Given the description of an element on the screen output the (x, y) to click on. 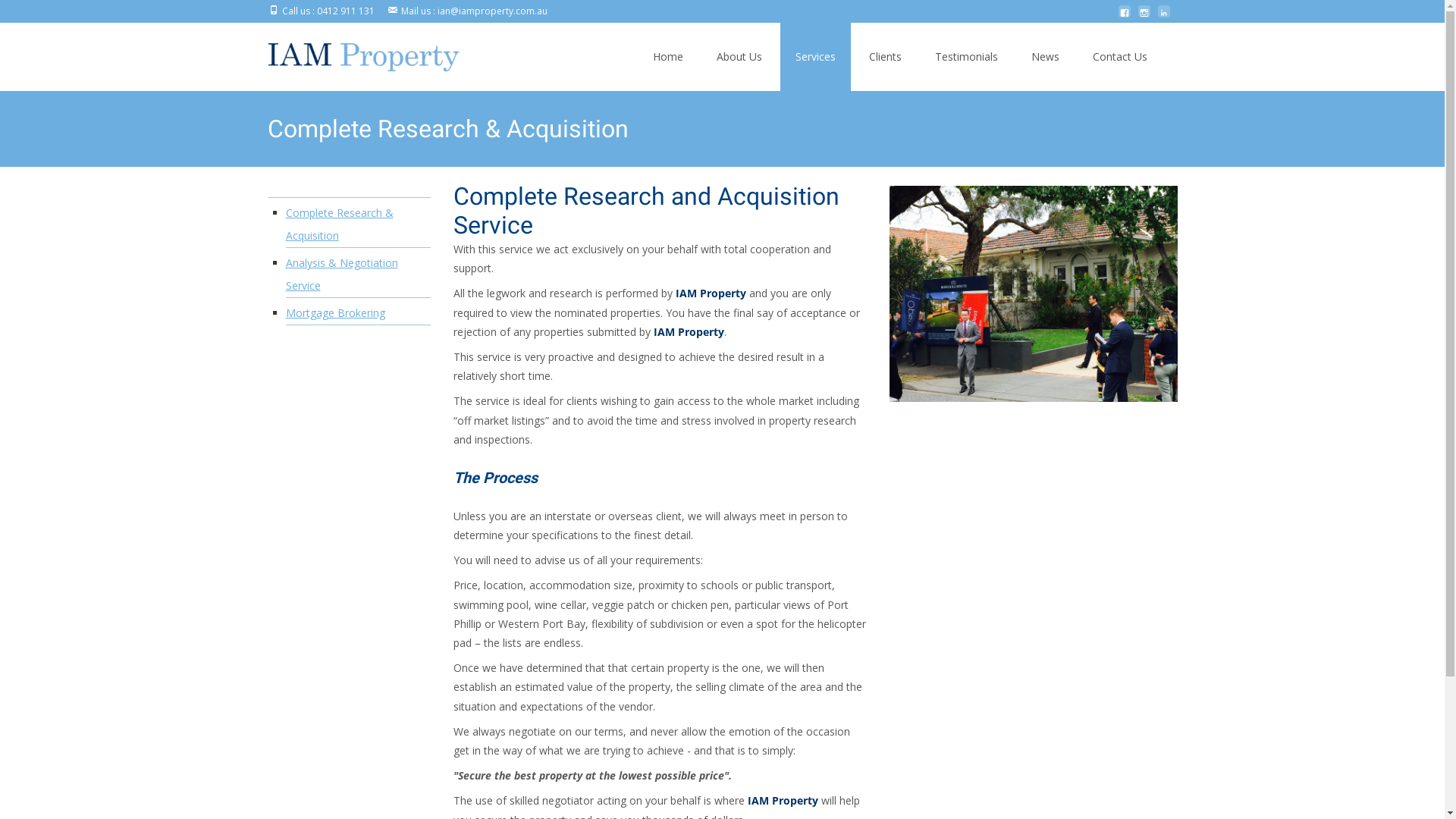
Skip to content Element type: text (637, 21)
Testimonials Element type: text (965, 56)
Contact Us Element type: text (1118, 56)
Services Element type: text (814, 56)
Clients Element type: text (884, 56)
instagram Element type: hover (1143, 16)
Complete Research & Acquisition Element type: text (338, 223)
News Element type: text (1045, 56)
linkedin Element type: hover (1163, 16)
Home Element type: text (667, 56)
IAM Property Element type: hover (350, 52)
About Us Element type: text (738, 56)
facebook Element type: hover (1123, 16)
Mortgage Brokering Element type: text (334, 312)
Analysis & Negotiation Service Element type: text (341, 273)
